Given the description of an element on the screen output the (x, y) to click on. 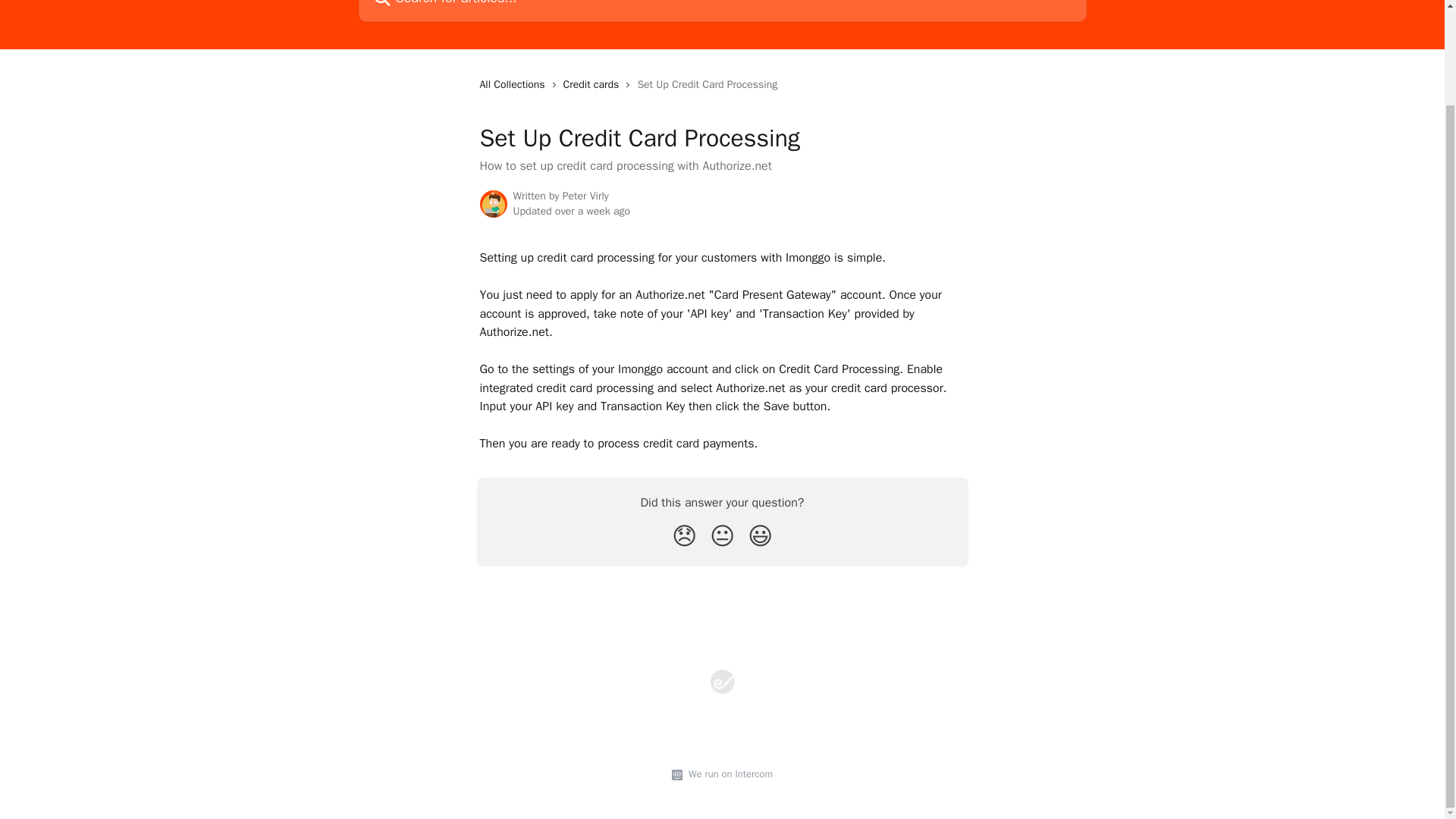
We run on Intercom (727, 774)
Credit cards (594, 84)
All Collections (514, 84)
